Given the description of an element on the screen output the (x, y) to click on. 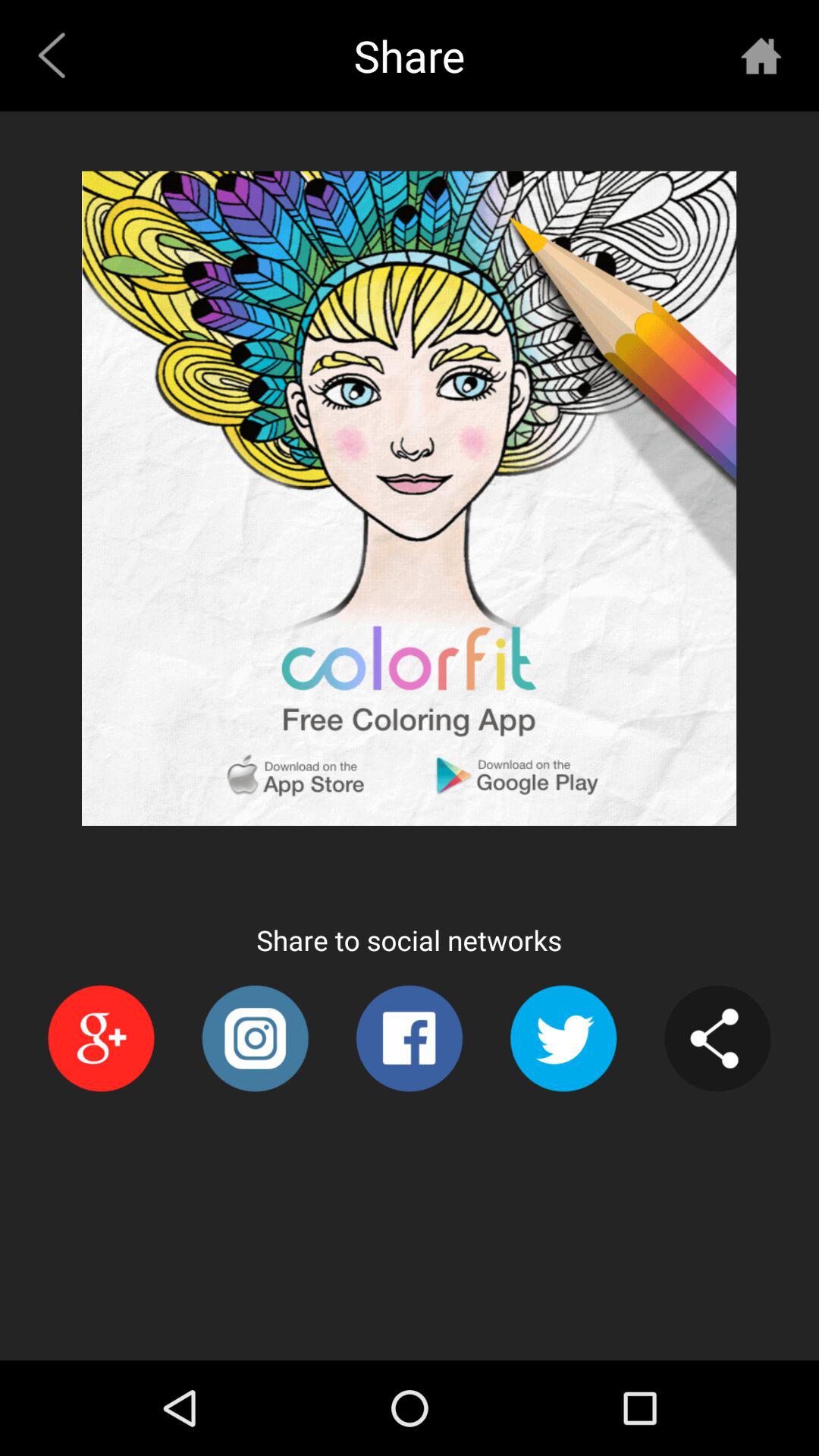
turn on the icon to the left of share icon (57, 55)
